Given the description of an element on the screen output the (x, y) to click on. 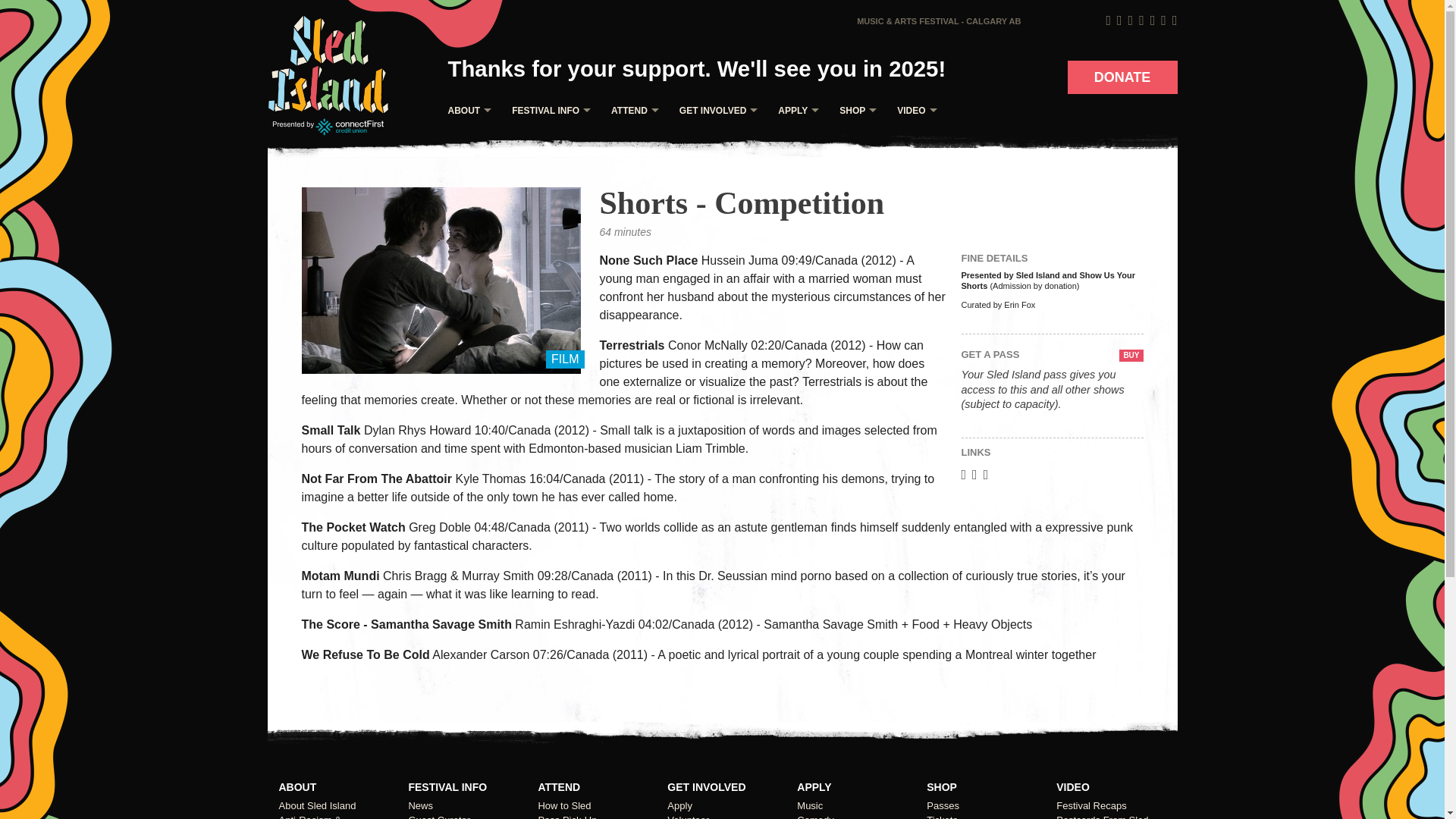
DONATE (1122, 77)
APPLY (794, 110)
ATTEND (630, 110)
SHOP (854, 110)
GET INVOLVED (714, 110)
ABOUT (465, 110)
FESTIVAL INFO (546, 110)
